Given the description of an element on the screen output the (x, y) to click on. 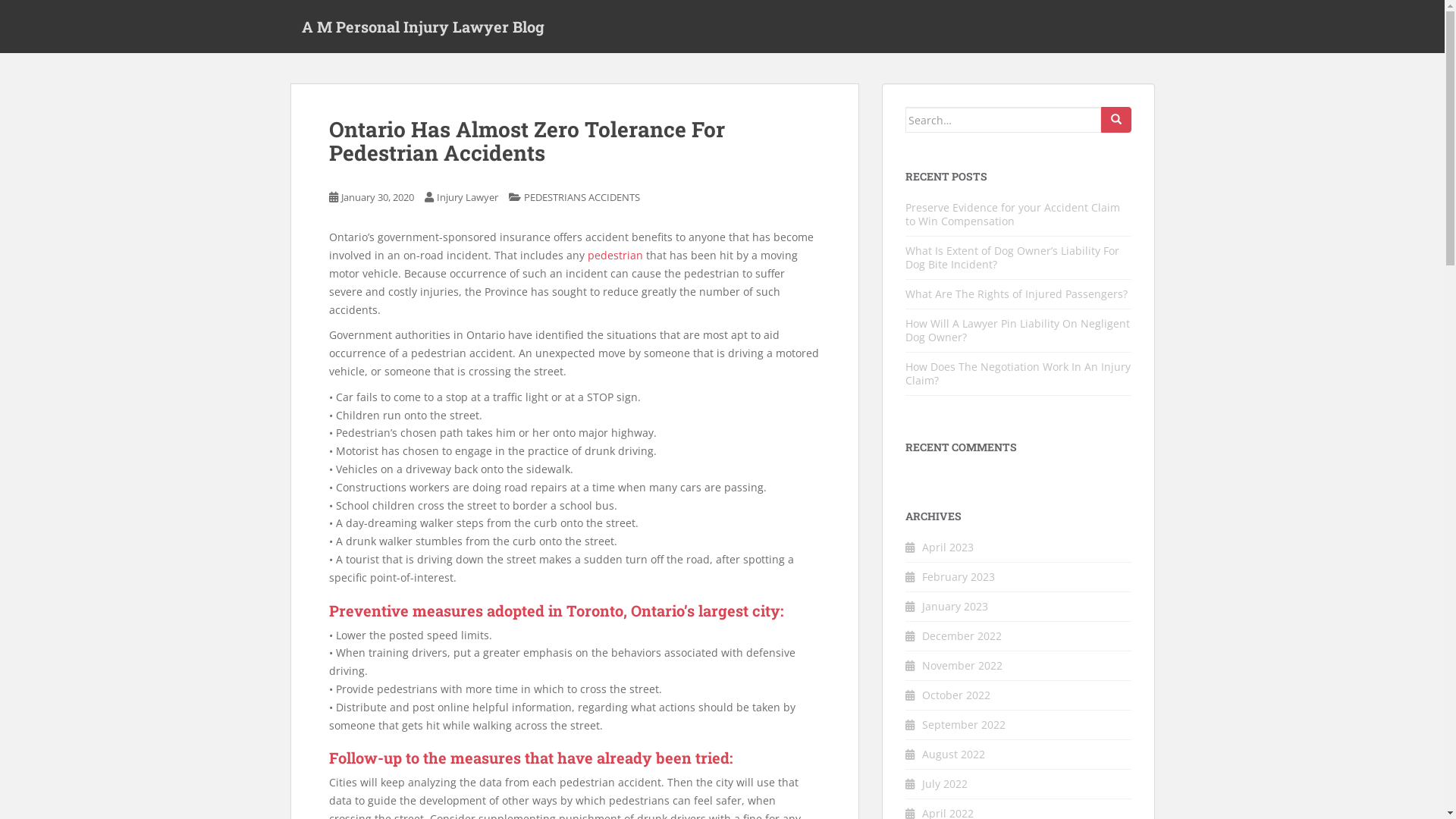
August 2022 Element type: text (953, 753)
PEDESTRIANS ACCIDENTS Element type: text (581, 196)
Search Element type: text (1116, 119)
January 30, 2020 Element type: text (377, 196)
How Does The Negotiation Work In An Injury Claim? Element type: text (1017, 373)
pedestrian Element type: text (614, 254)
February 2023 Element type: text (958, 576)
A M Personal Injury Lawyer Blog Element type: text (422, 26)
November 2022 Element type: text (962, 665)
How Will A Lawyer Pin Liability On Negligent Dog Owner? Element type: text (1017, 330)
January 2023 Element type: text (955, 606)
October 2022 Element type: text (956, 694)
April 2023 Element type: text (947, 546)
September 2022 Element type: text (963, 724)
December 2022 Element type: text (961, 635)
Search for: Element type: hover (1003, 119)
What Are The Rights of Injured Passengers? Element type: text (1016, 293)
July 2022 Element type: text (944, 783)
Injury Lawyer Element type: text (467, 196)
